Given the description of an element on the screen output the (x, y) to click on. 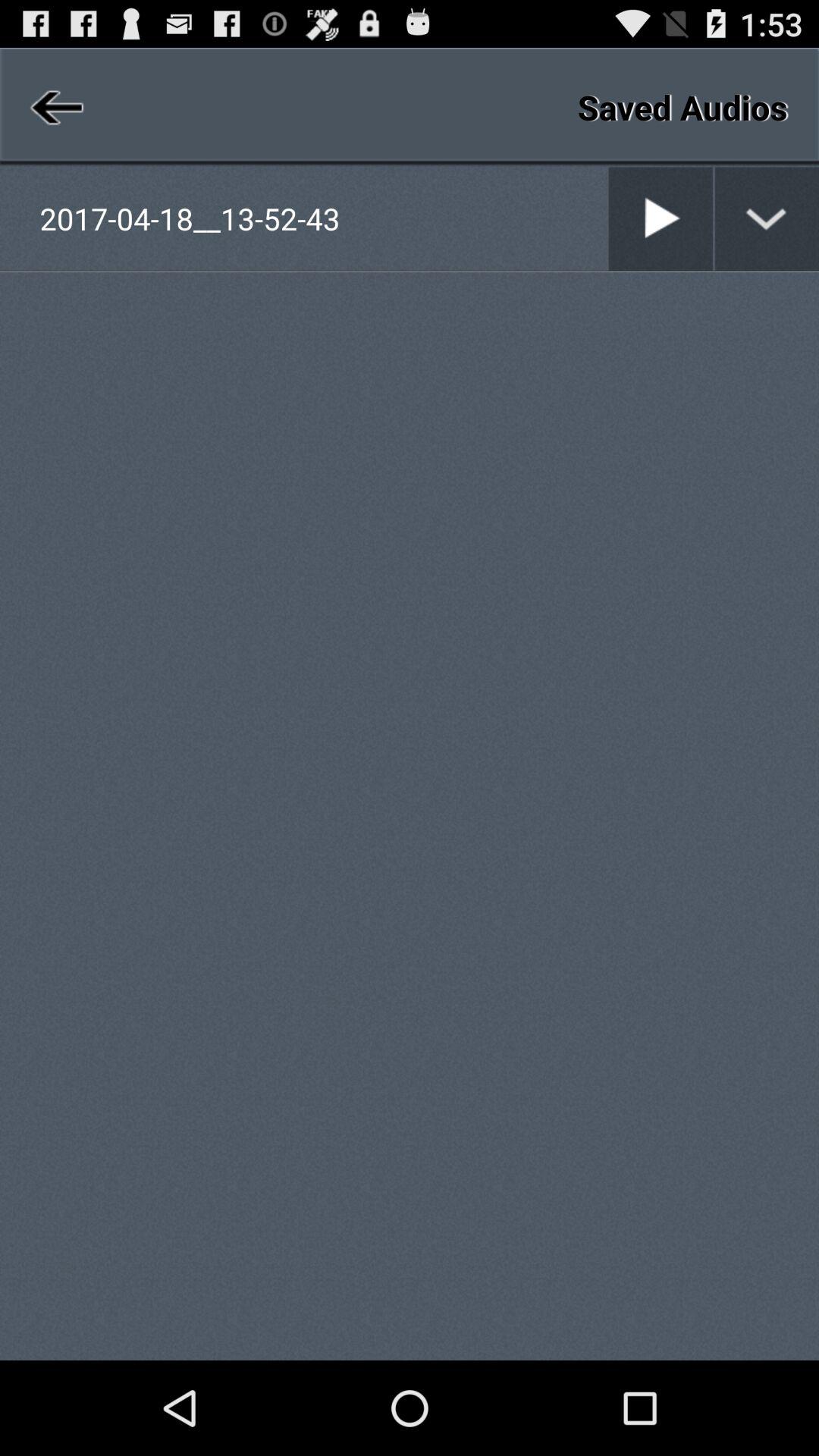
choose 2017 04 18__13 icon (322, 218)
